Given the description of an element on the screen output the (x, y) to click on. 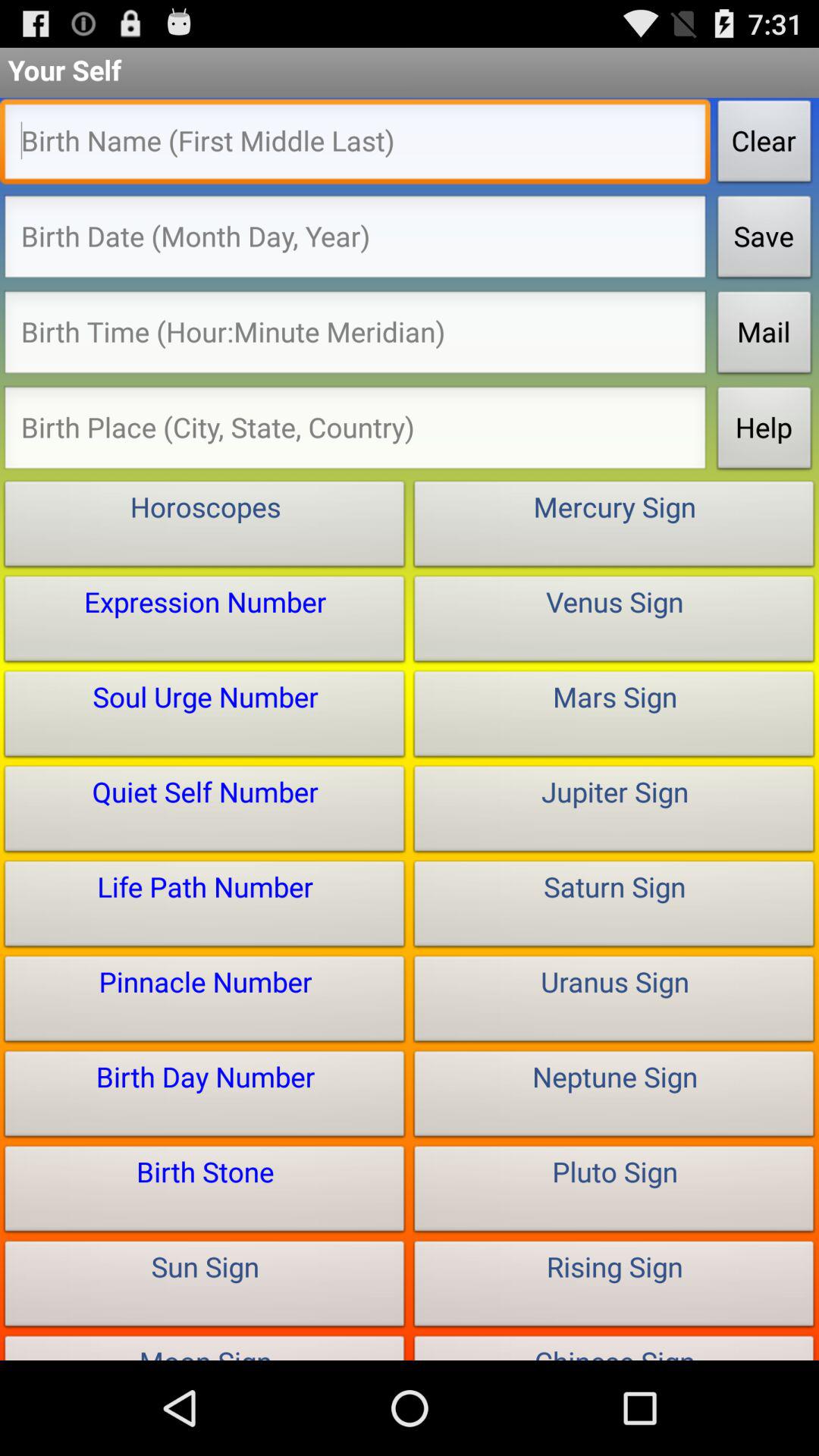
add your birth information (355, 240)
